Given the description of an element on the screen output the (x, y) to click on. 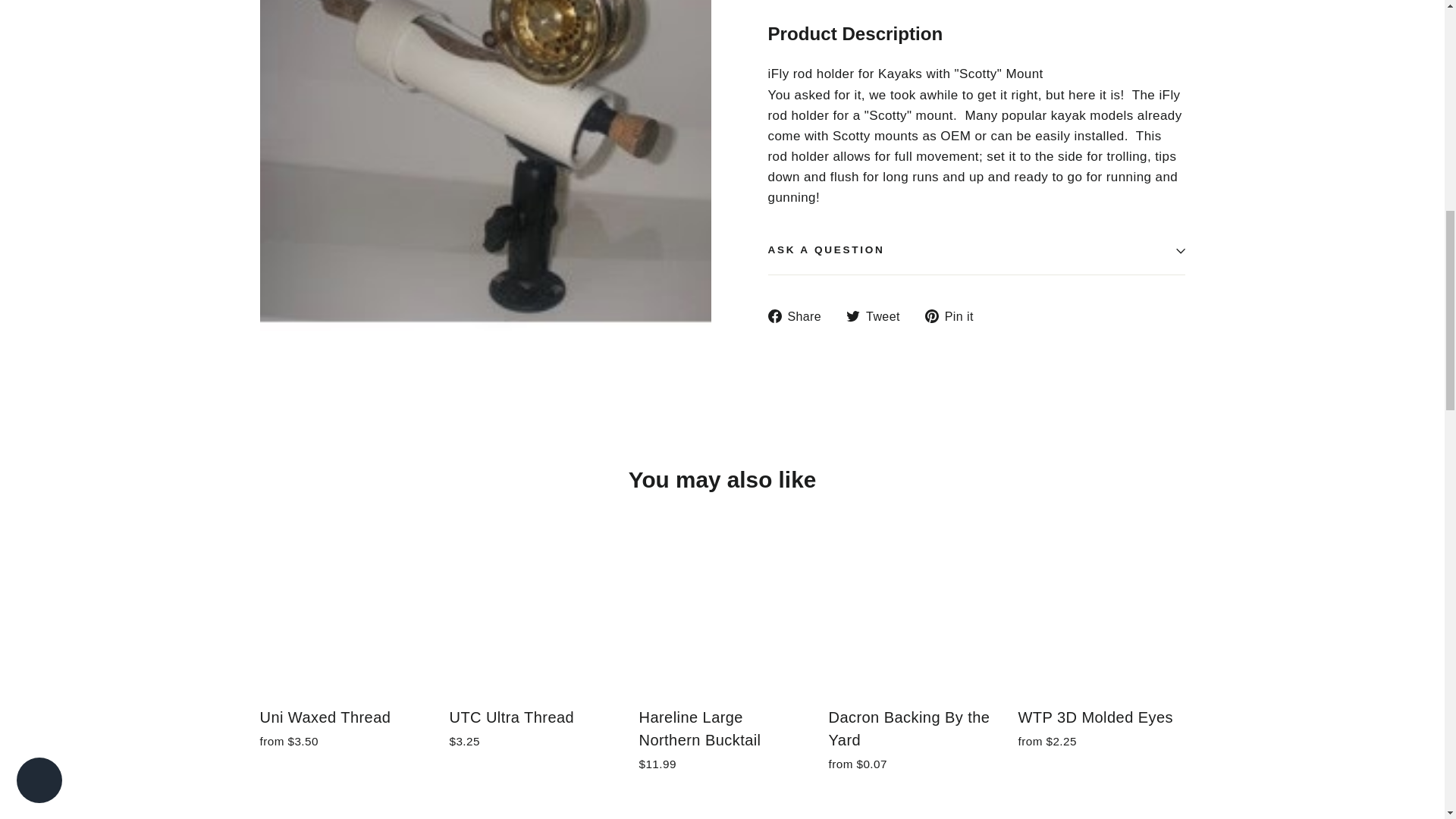
Tweet on Twitter (878, 316)
Share on Facebook (799, 316)
Pin on Pinterest (954, 316)
twitter (852, 315)
